Given the description of an element on the screen output the (x, y) to click on. 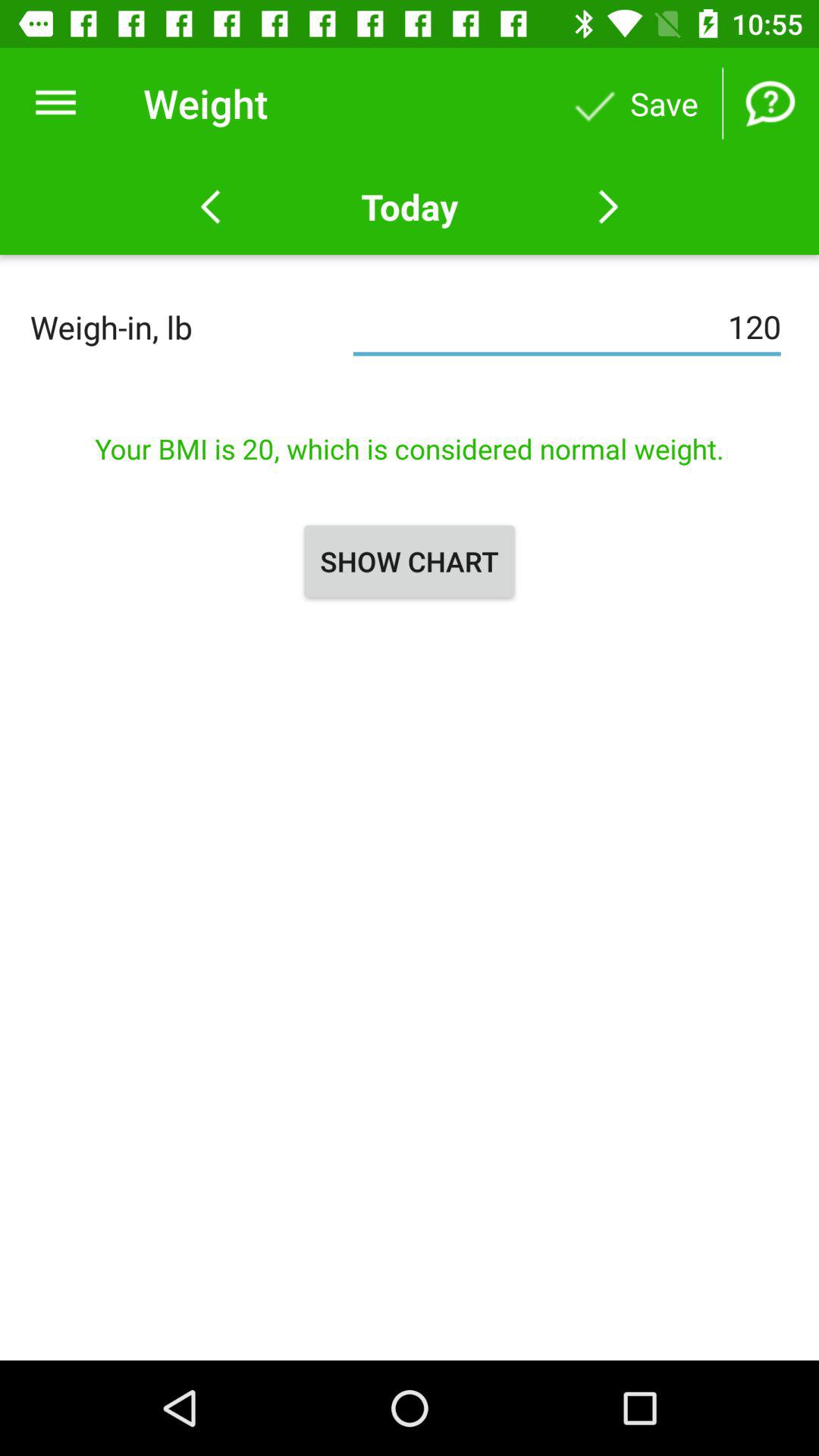
turn on icon to the left of weight (55, 103)
